Given the description of an element on the screen output the (x, y) to click on. 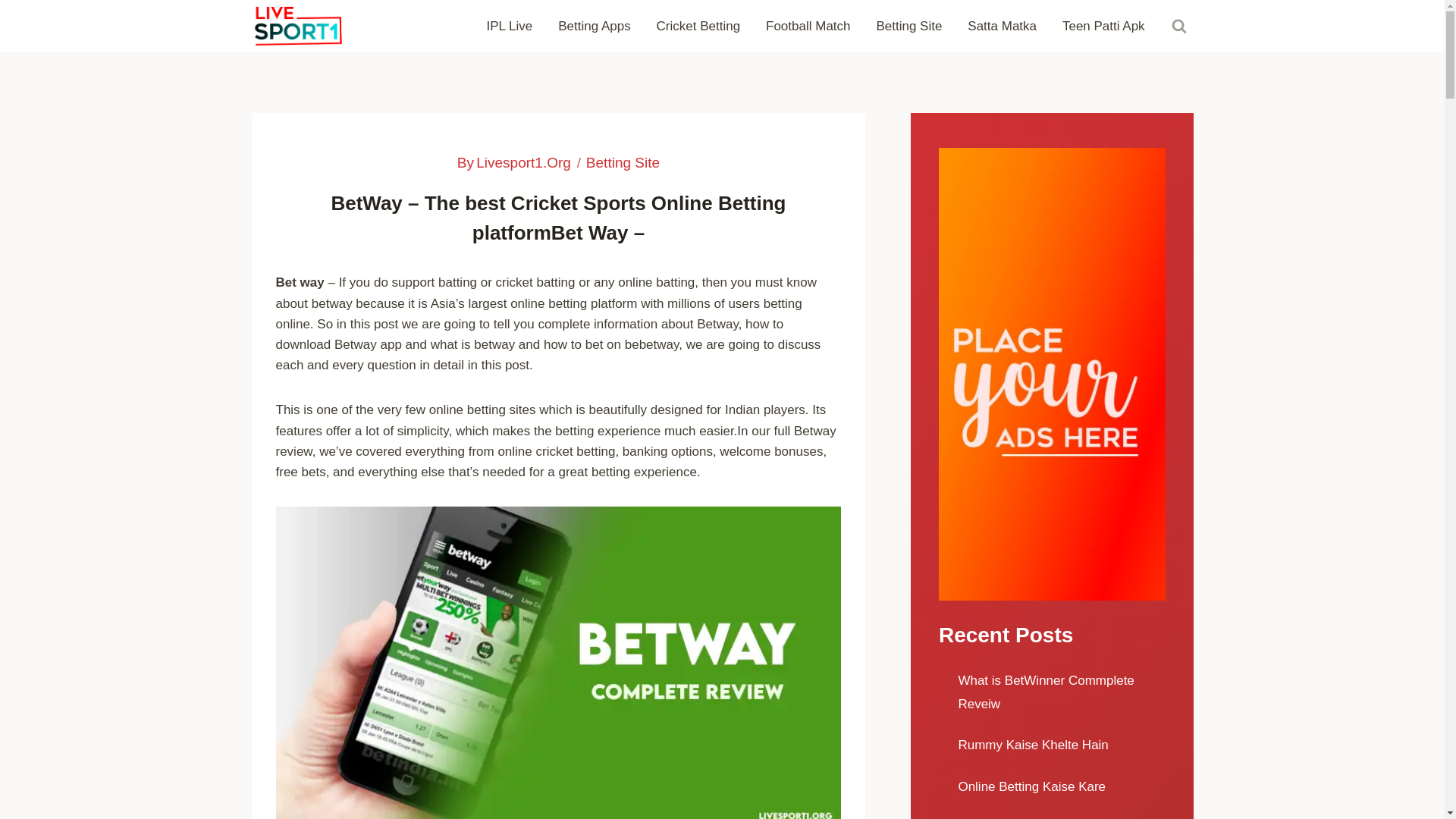
IPL Live (509, 26)
Cricket Betting (698, 26)
Betting Site (909, 26)
Teen Patti Apk (1103, 26)
Satta Matka (1001, 26)
Livesport1.Org (523, 162)
Betting Apps (593, 26)
Football Match (807, 26)
Betting Site (622, 162)
